Given the description of an element on the screen output the (x, y) to click on. 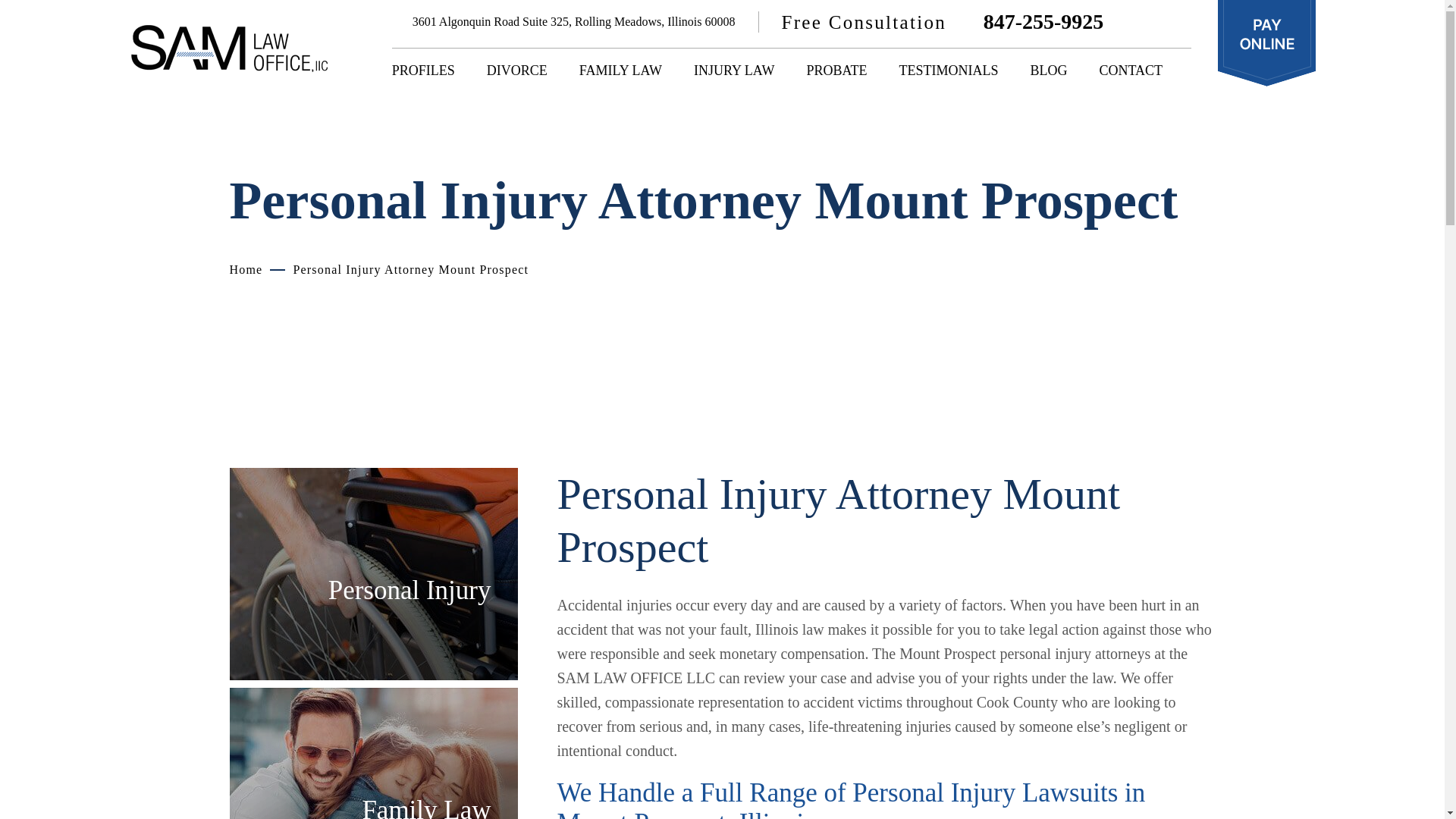
Go to SAM LAW OFFICE LLC. (245, 269)
